Given the description of an element on the screen output the (x, y) to click on. 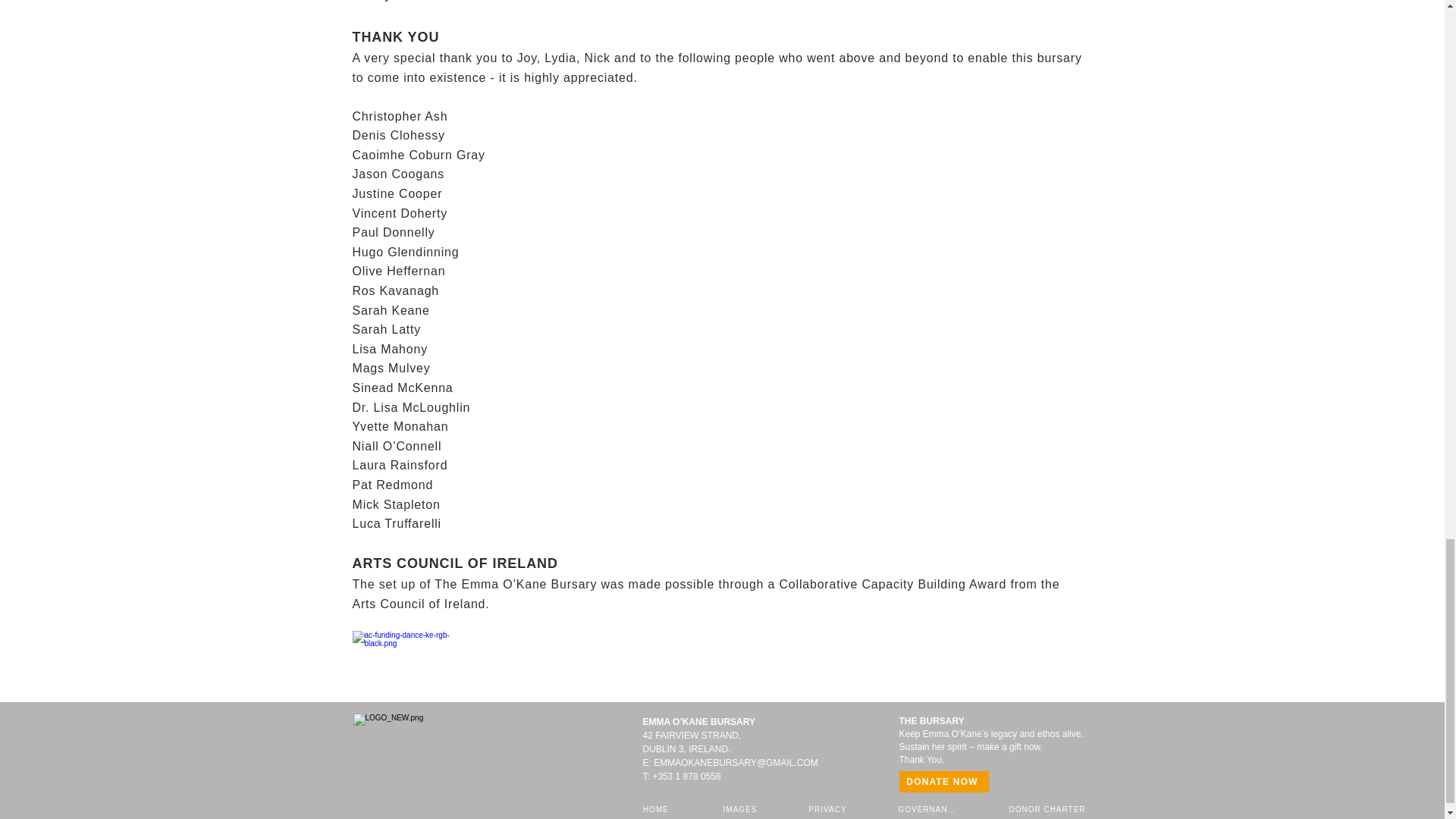
IMAGES (741, 808)
DONATE NOW (943, 781)
DONOR CHARTER (1049, 808)
HOME (657, 808)
Emma O'Kane Bursary (437, 752)
PRIVACY (828, 808)
GOVERNANCE (929, 808)
